Given the description of an element on the screen output the (x, y) to click on. 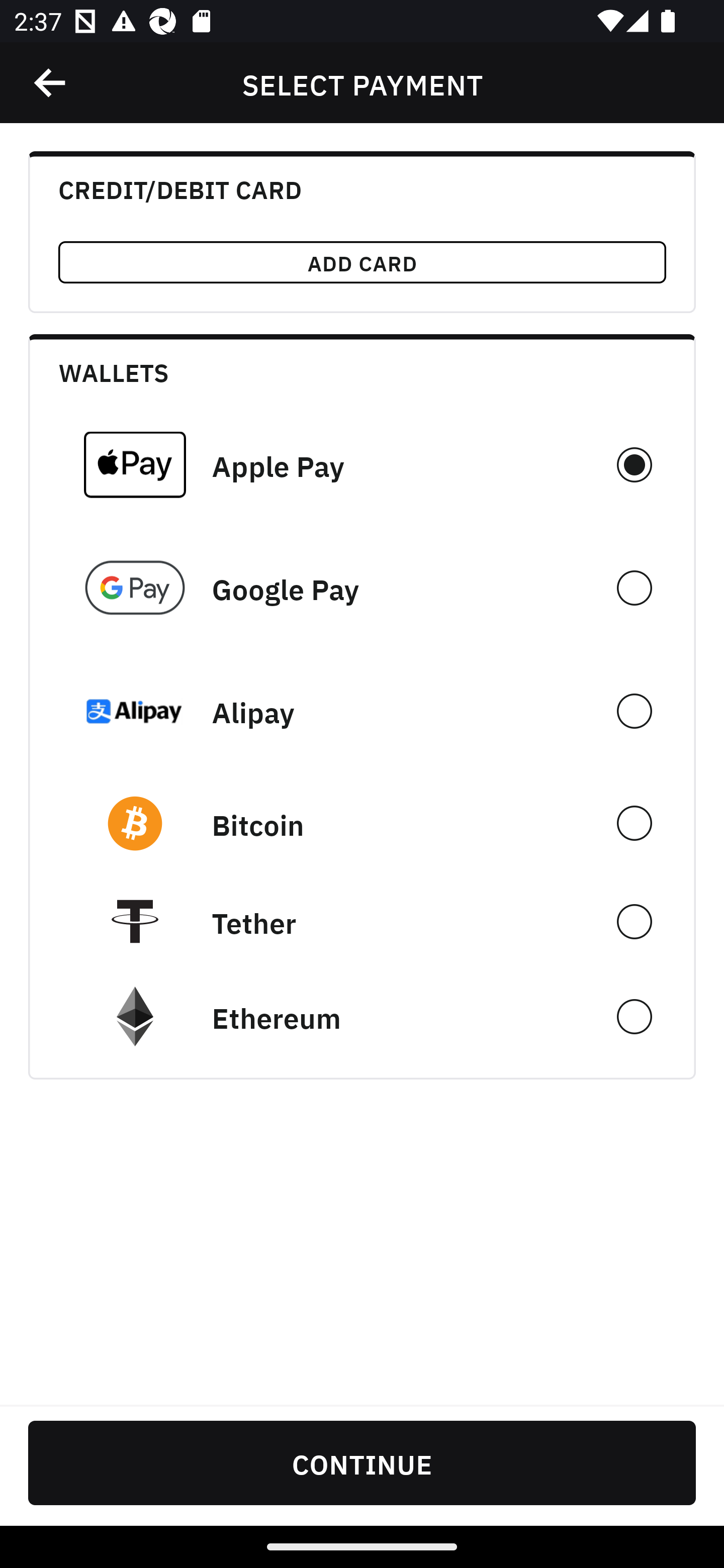
 (50, 83)
ADD CARD (362, 262)
Apple Pay (362, 464)
Google Pay (362, 587)
Alipay (362, 711)
󰠓 Bitcoin (362, 823)
Tether (362, 921)
Ethereum (362, 1016)
CONTINUE (361, 1462)
